Given the description of an element on the screen output the (x, y) to click on. 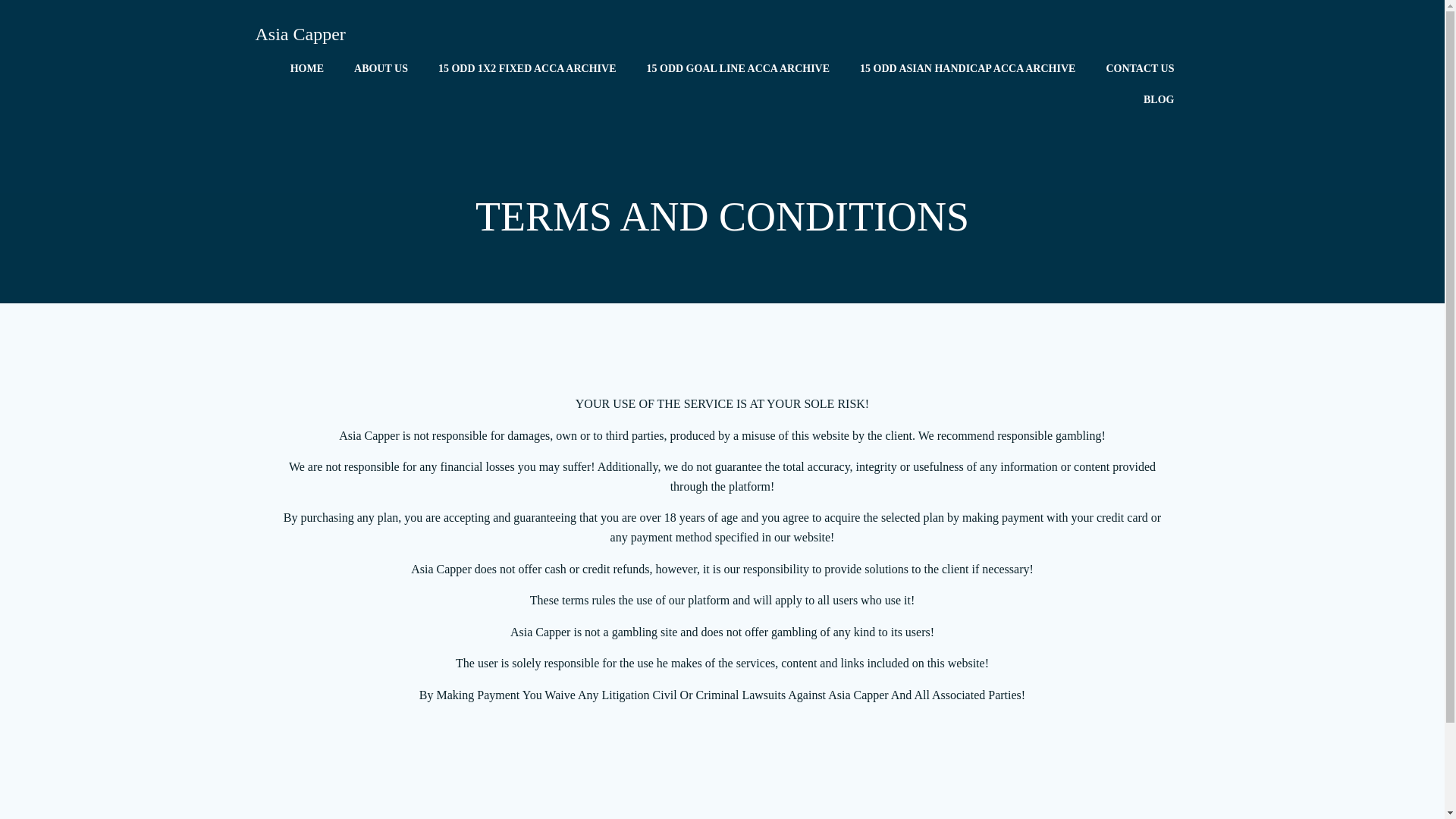
Asia Capper (299, 33)
HOME (306, 68)
CONTACT US (1139, 68)
15 ODD GOAL LINE ACCA ARCHIVE (737, 68)
15 ODD 1X2 FIXED ACCA ARCHIVE (526, 68)
ABOUT US (380, 68)
Colibri (866, 773)
BLOG (1157, 99)
15 ODD ASIAN HANDICAP ACCA ARCHIVE (967, 68)
